Given the description of an element on the screen output the (x, y) to click on. 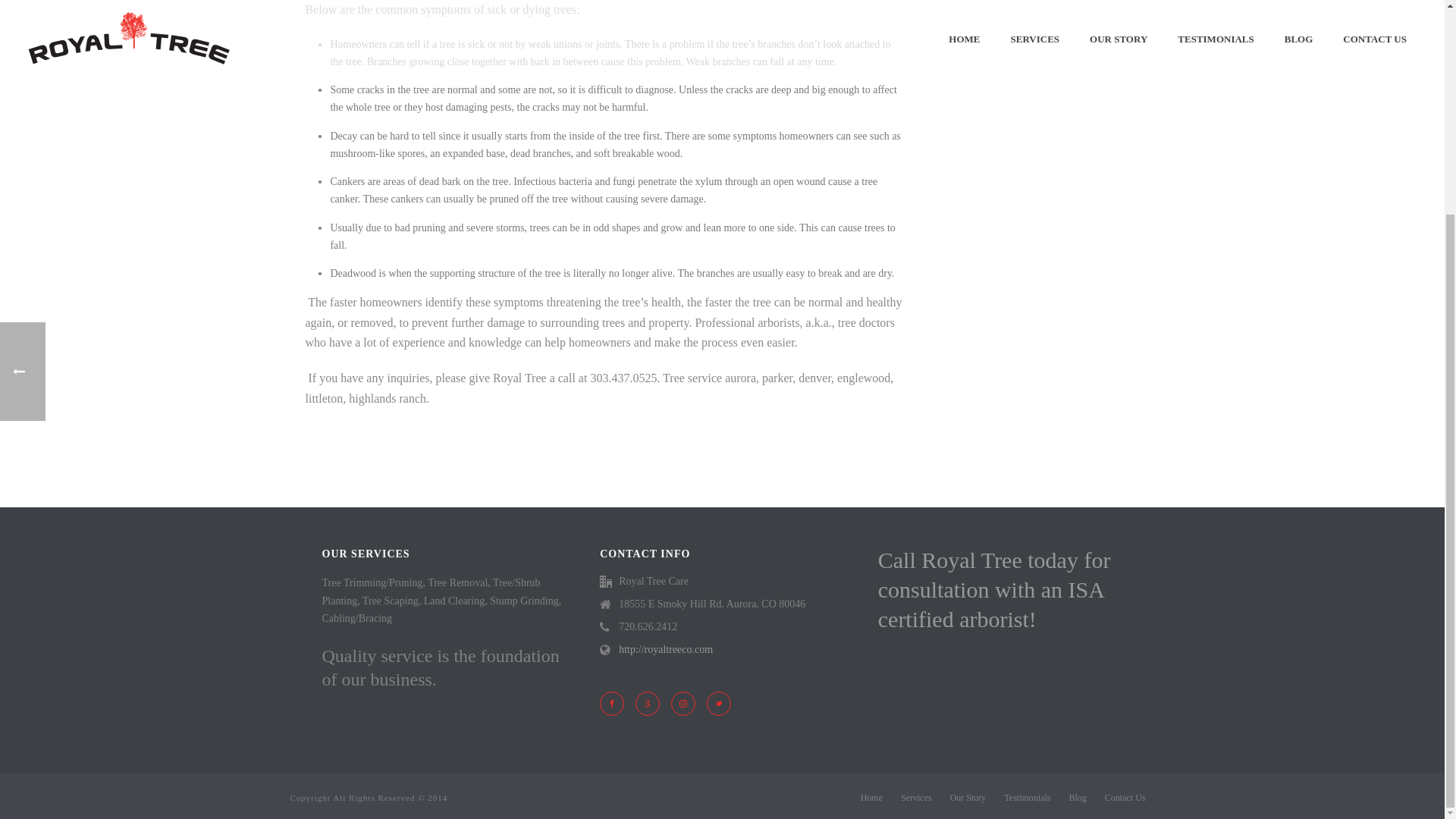
Follow Us on facebook (611, 703)
Testimonials (1026, 797)
Services (916, 797)
Our Story (968, 797)
Home (871, 797)
Follow Us on twitter (718, 703)
Follow Us on google (646, 703)
Follow Us on instagram (683, 703)
